Given the description of an element on the screen output the (x, y) to click on. 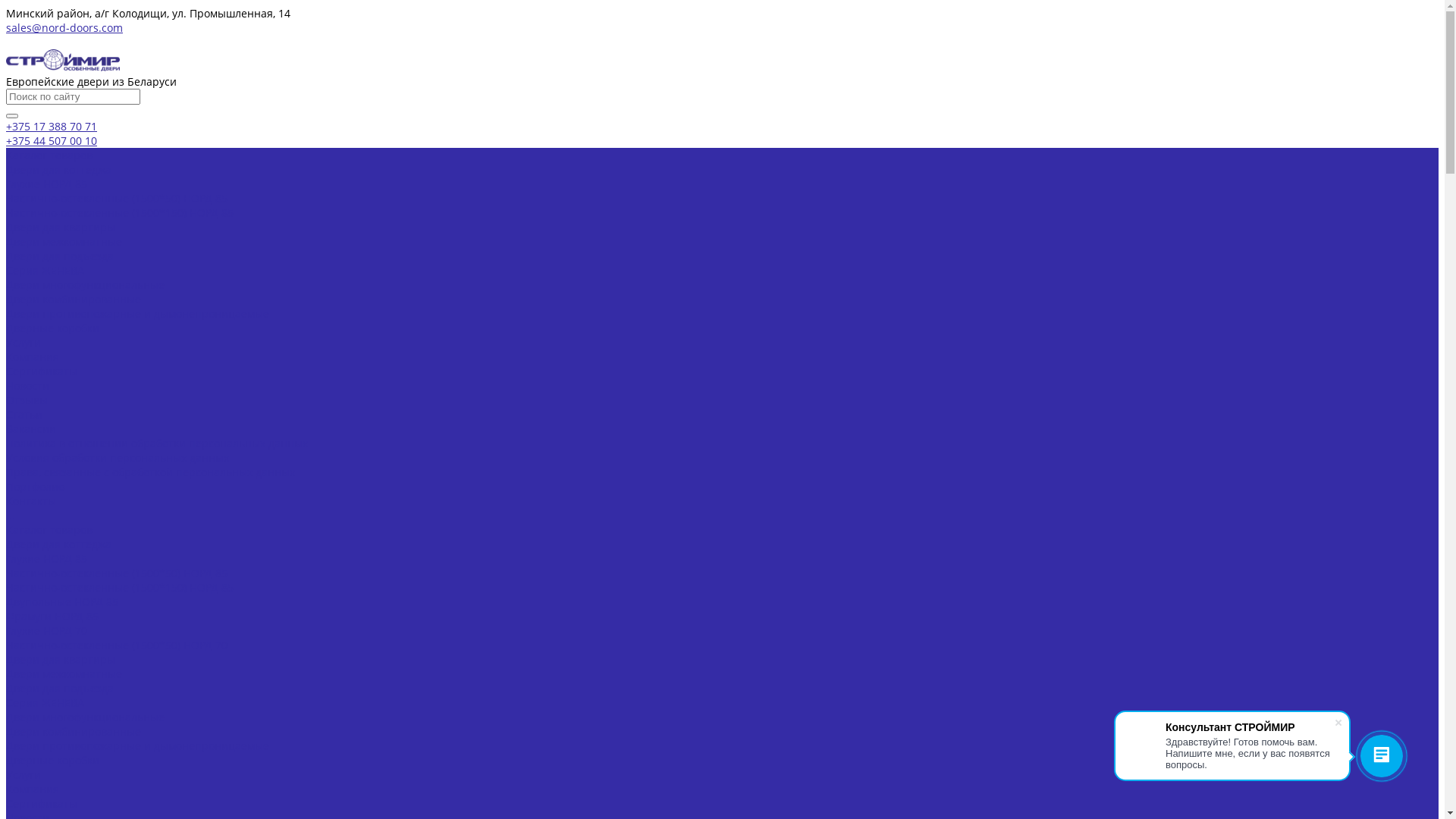
... Element type: text (476, 515)
+375 44 507 00 10 Element type: text (51, 140)
sales@nord-doors.com Element type: text (64, 27)
+375 17 388 70 71 Element type: text (51, 126)
